Given the description of an element on the screen output the (x, y) to click on. 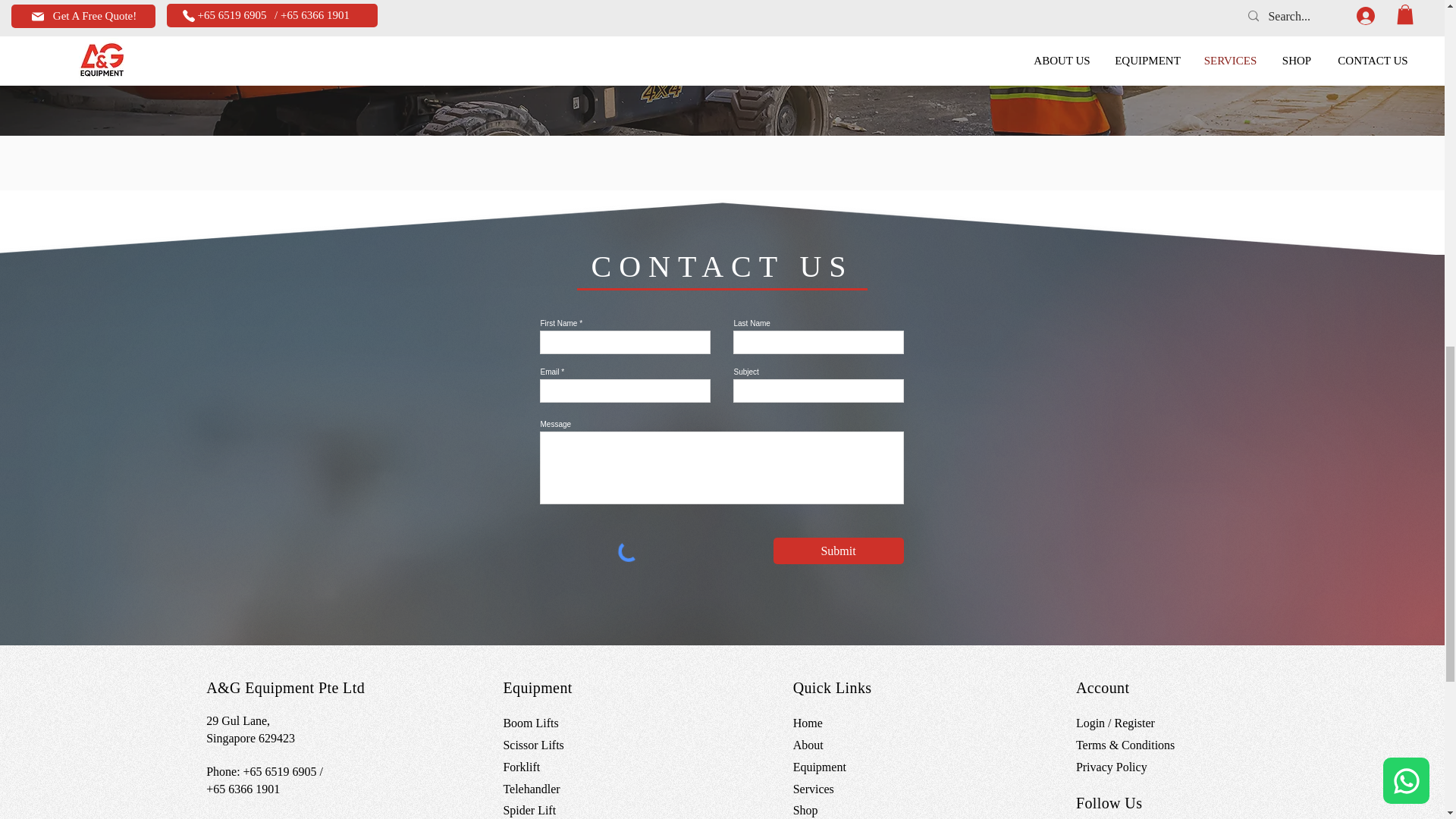
Telehandler (530, 788)
Scissor Lifts (532, 744)
Spider Lift (529, 809)
Forklift (521, 766)
Submit (838, 550)
Boom Lifts (529, 722)
